Given the description of an element on the screen output the (x, y) to click on. 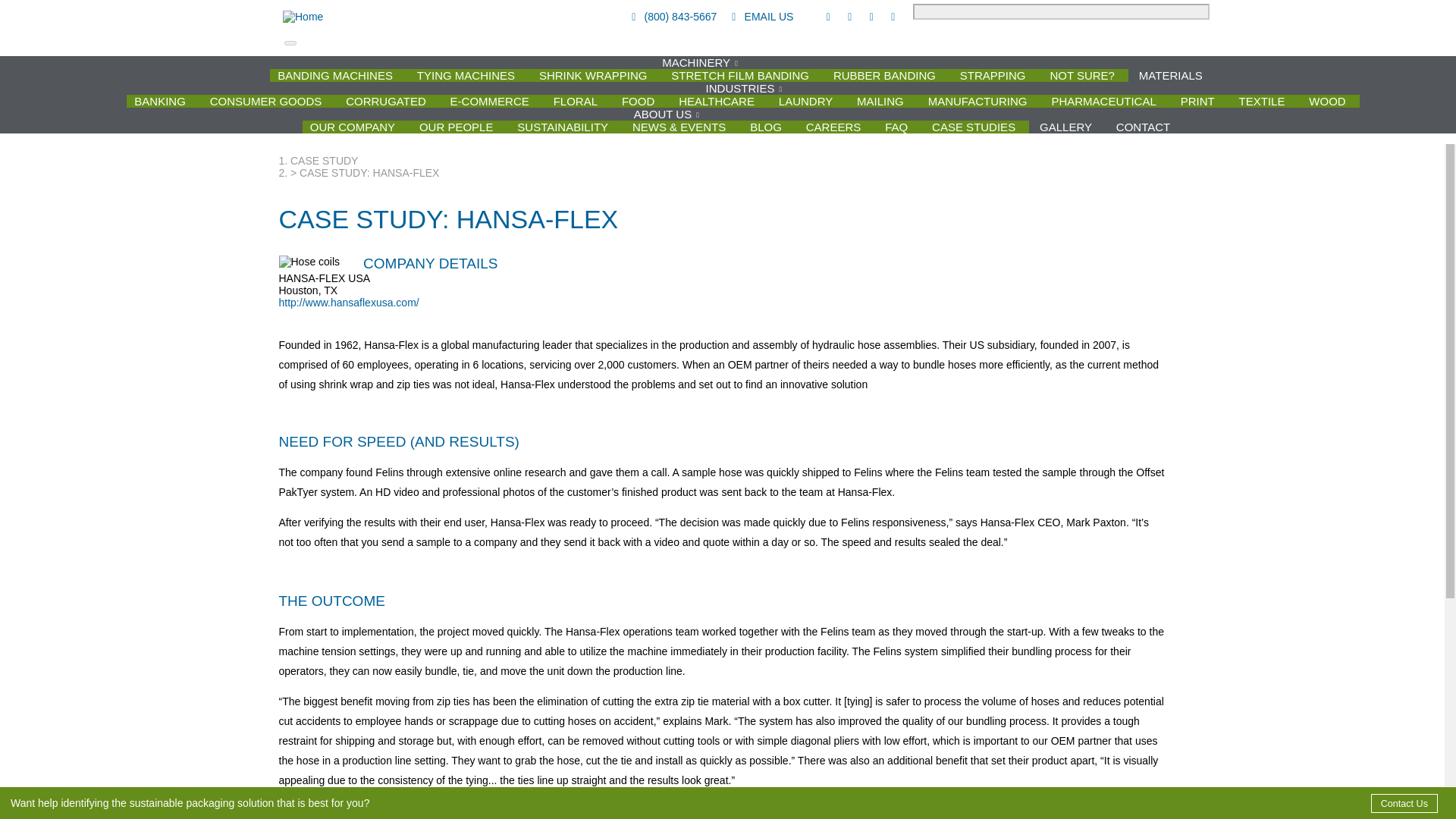
Home (415, 16)
